Given the description of an element on the screen output the (x, y) to click on. 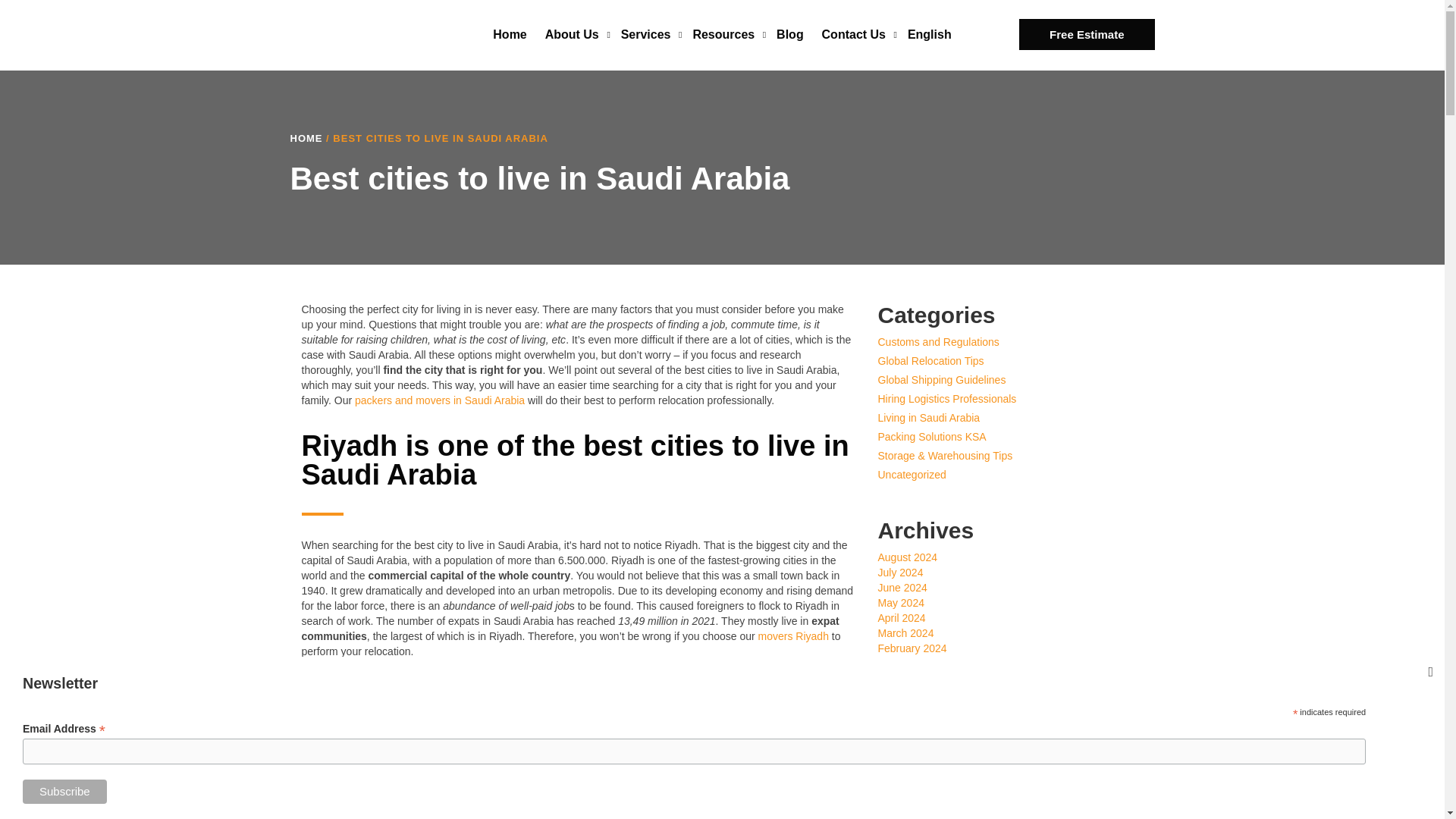
packers and movers in Saudi Arabia (439, 399)
Services (647, 35)
Subscribe (64, 791)
Contact Us (854, 35)
Resources (724, 35)
About Us (573, 35)
movers Riyadh (793, 635)
HOME (305, 138)
Free Estimate (1086, 33)
